Given the description of an element on the screen output the (x, y) to click on. 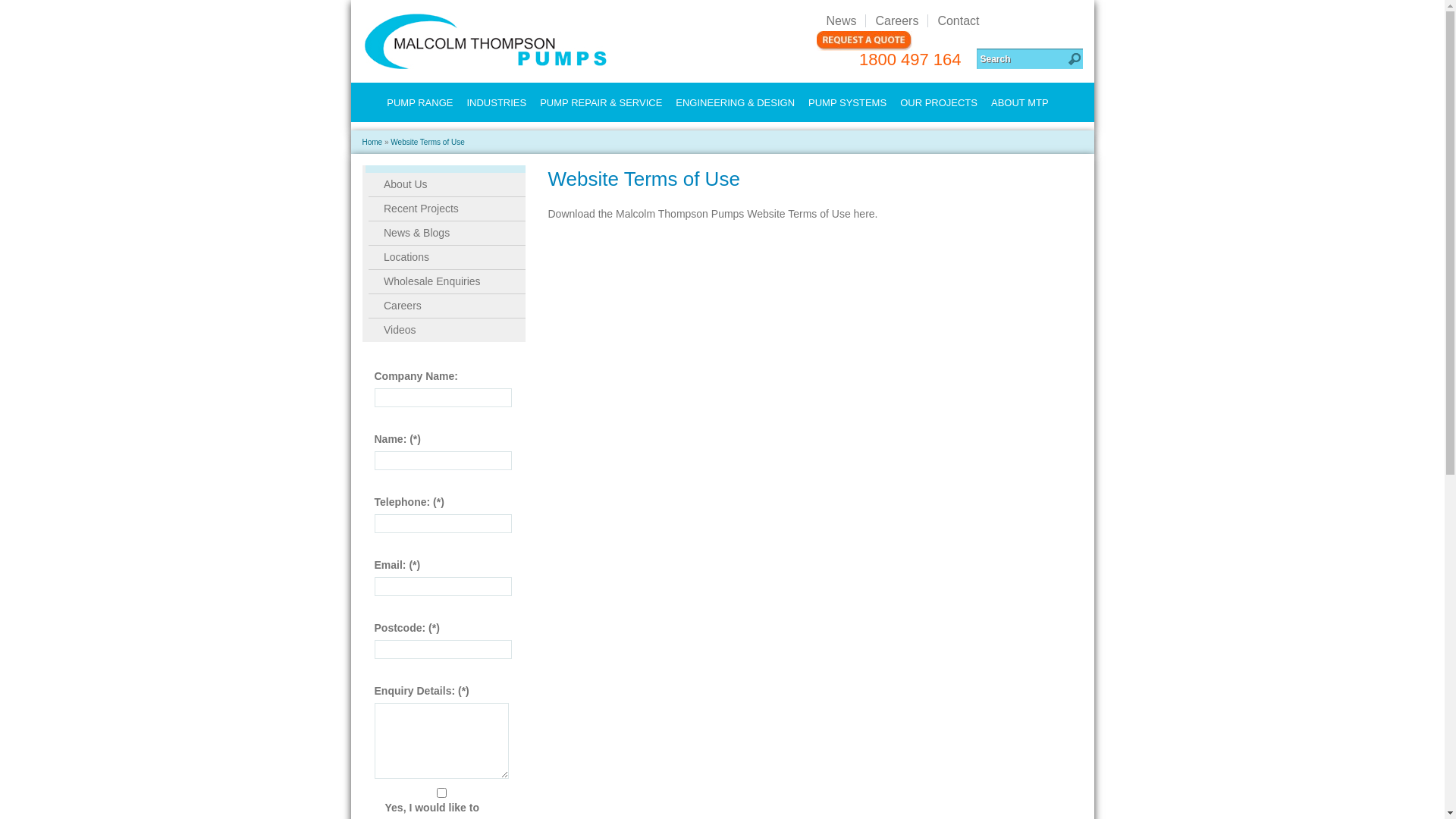
PUMP RANGE Element type: text (419, 102)
ENGINEERING & DESIGN Element type: text (734, 102)
Wholesale Enquiries Element type: text (446, 281)
News Element type: text (840, 20)
Recent Projects Element type: text (446, 208)
About Us Element type: text (446, 184)
1800 497 164 Element type: text (910, 59)
Careers Element type: text (446, 305)
Request a Quote Element type: text (864, 40)
Locations Element type: text (446, 256)
Videos Element type: text (446, 329)
PUMP SYSTEMS Element type: text (847, 102)
News & Blogs Element type: text (446, 232)
Website Terms of Use Element type: text (427, 142)
INDUSTRIES Element type: text (496, 102)
PUMP REPAIR & SERVICE Element type: text (600, 102)
ABOUT MTP Element type: text (1019, 102)
Careers Element type: text (896, 20)
Home Element type: text (372, 142)
Contact Element type: text (957, 20)
Malcolm Thompson Pumps Element type: hover (485, 40)
OUR PROJECTS Element type: text (938, 102)
